Given the description of an element on the screen output the (x, y) to click on. 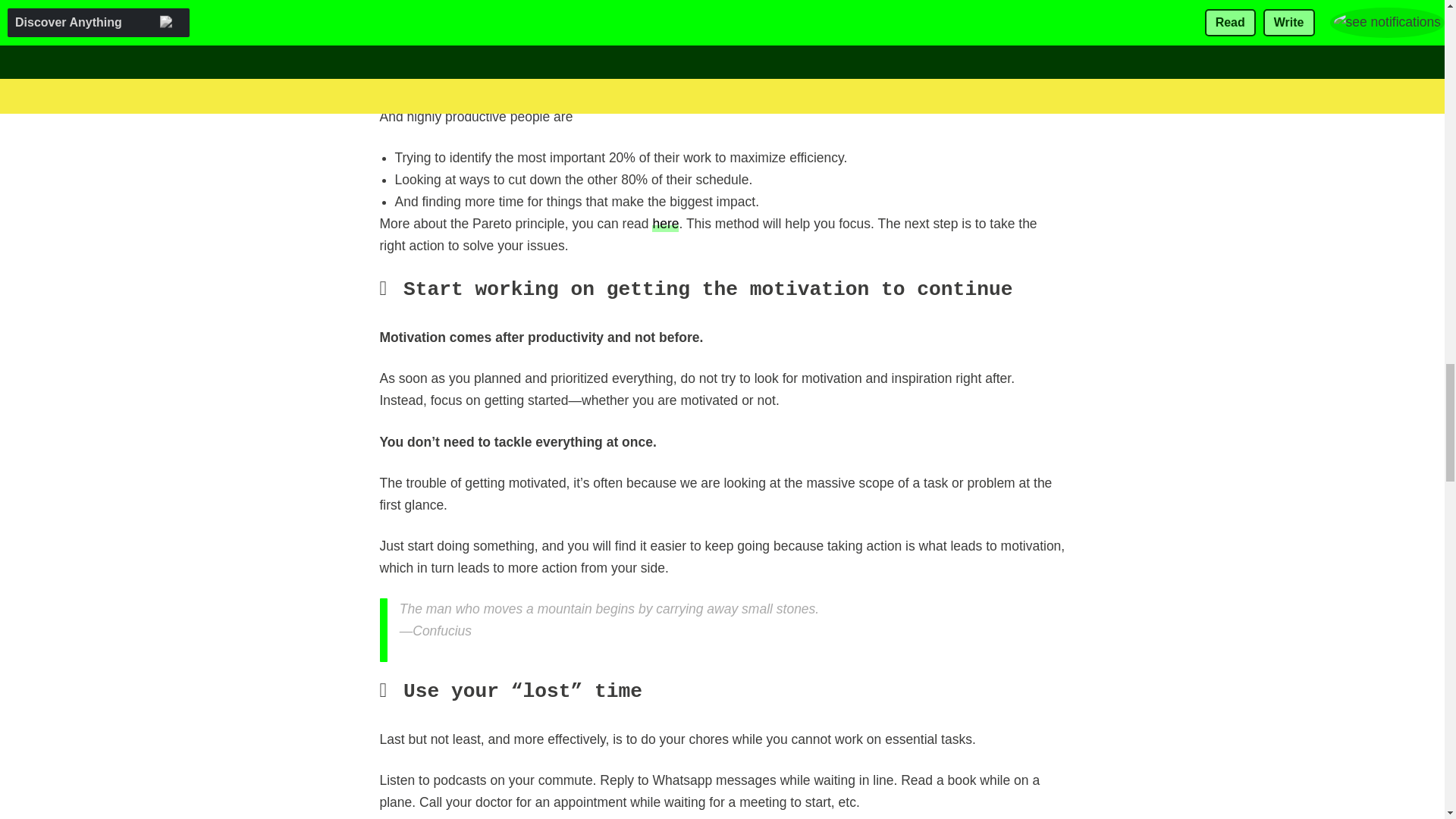
here (665, 222)
